Given the description of an element on the screen output the (x, y) to click on. 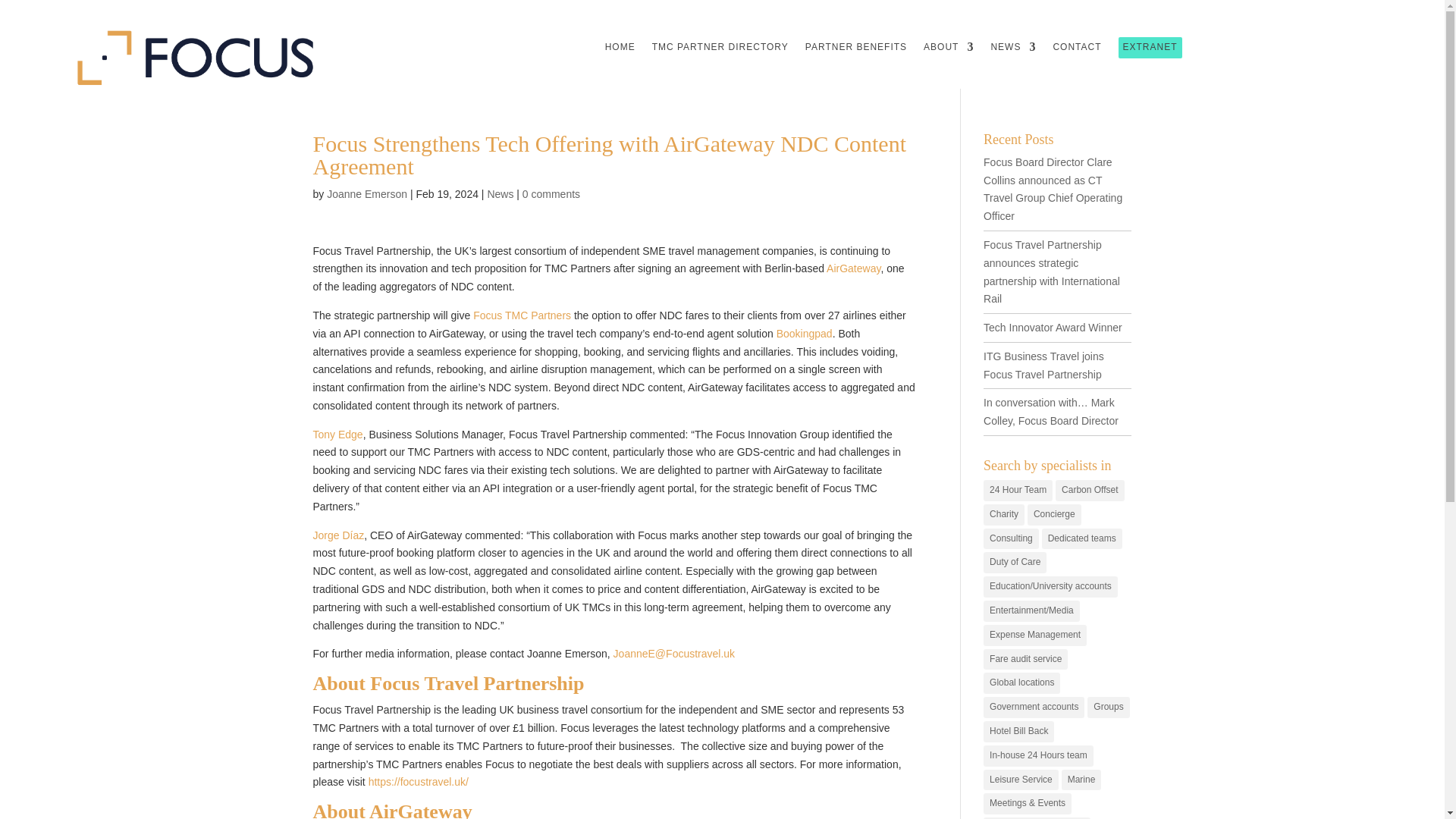
Joanne Emerson (366, 193)
24 Hour Team (1018, 490)
HOME (619, 49)
ABOUT (948, 49)
Duty of Care (1015, 562)
Dedicated teams (1082, 538)
Posts by Joanne Emerson (366, 193)
Tech Innovator Award Winner (1053, 327)
CONTACT (1076, 49)
